Given the description of an element on the screen output the (x, y) to click on. 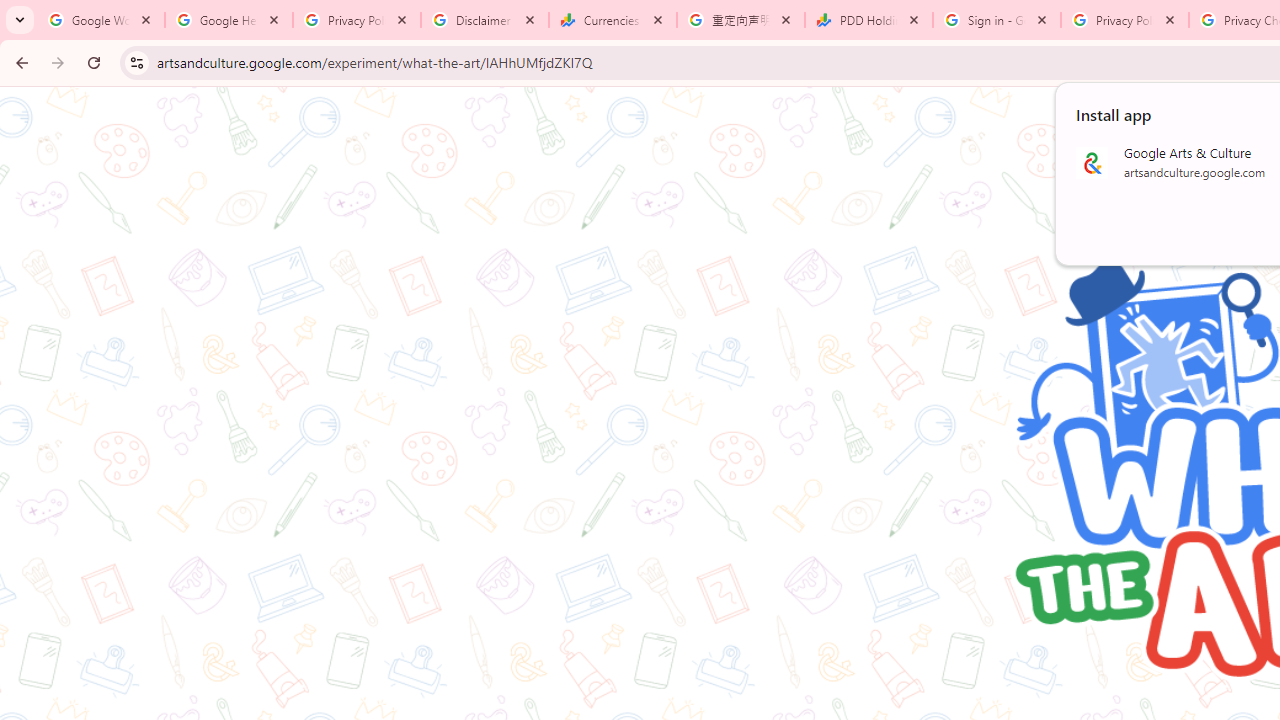
Currencies - Google Finance (613, 20)
Google Workspace Admin Community (101, 20)
Sign in - Google Accounts (997, 20)
